Given the description of an element on the screen output the (x, y) to click on. 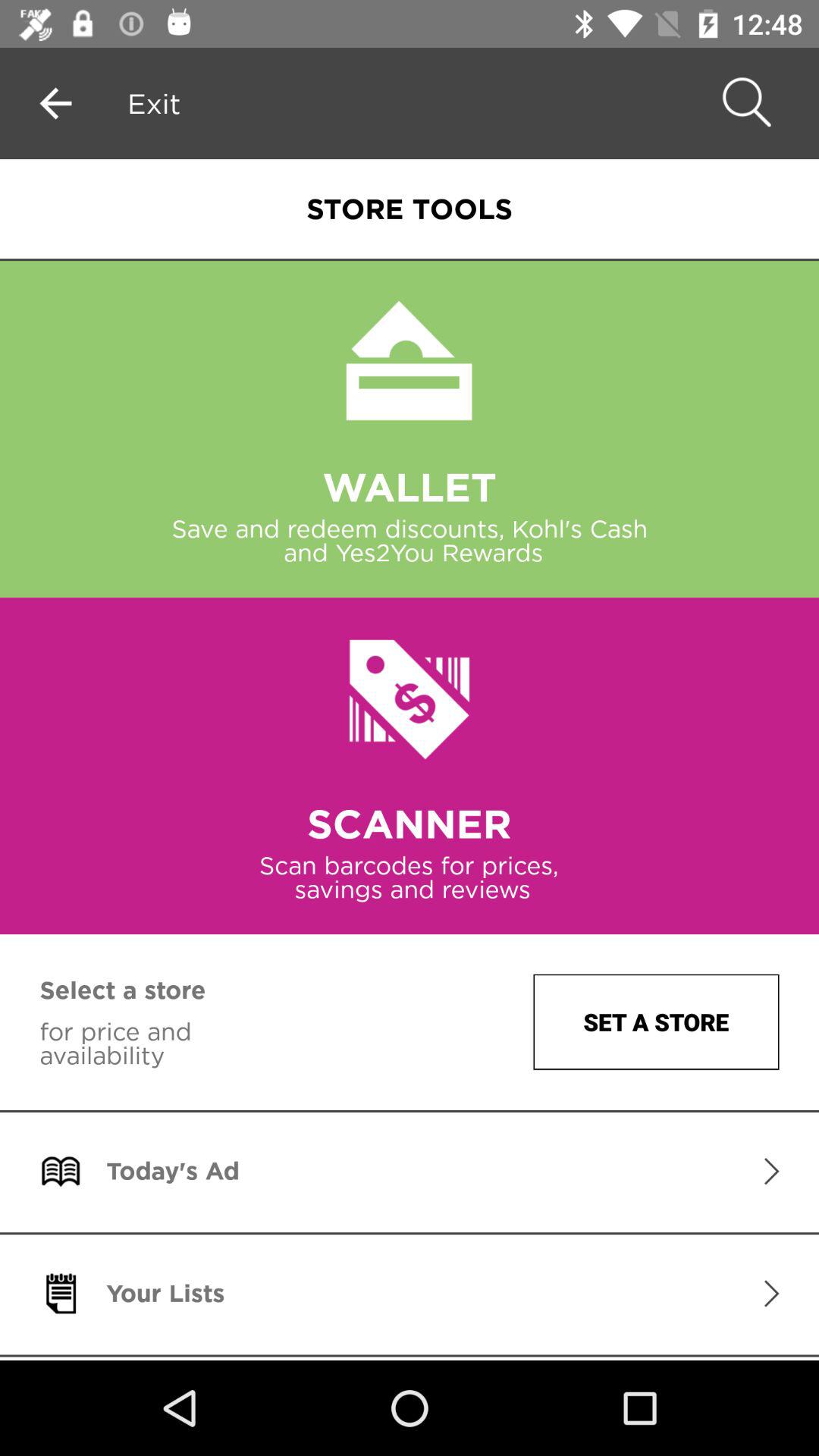
go to search (744, 103)
